Given the description of an element on the screen output the (x, y) to click on. 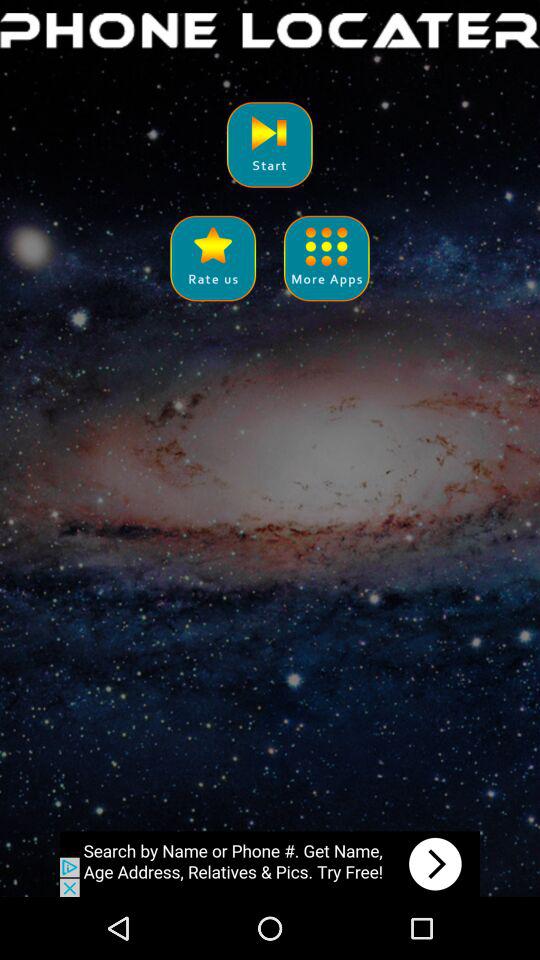
advertisement (270, 864)
